Given the description of an element on the screen output the (x, y) to click on. 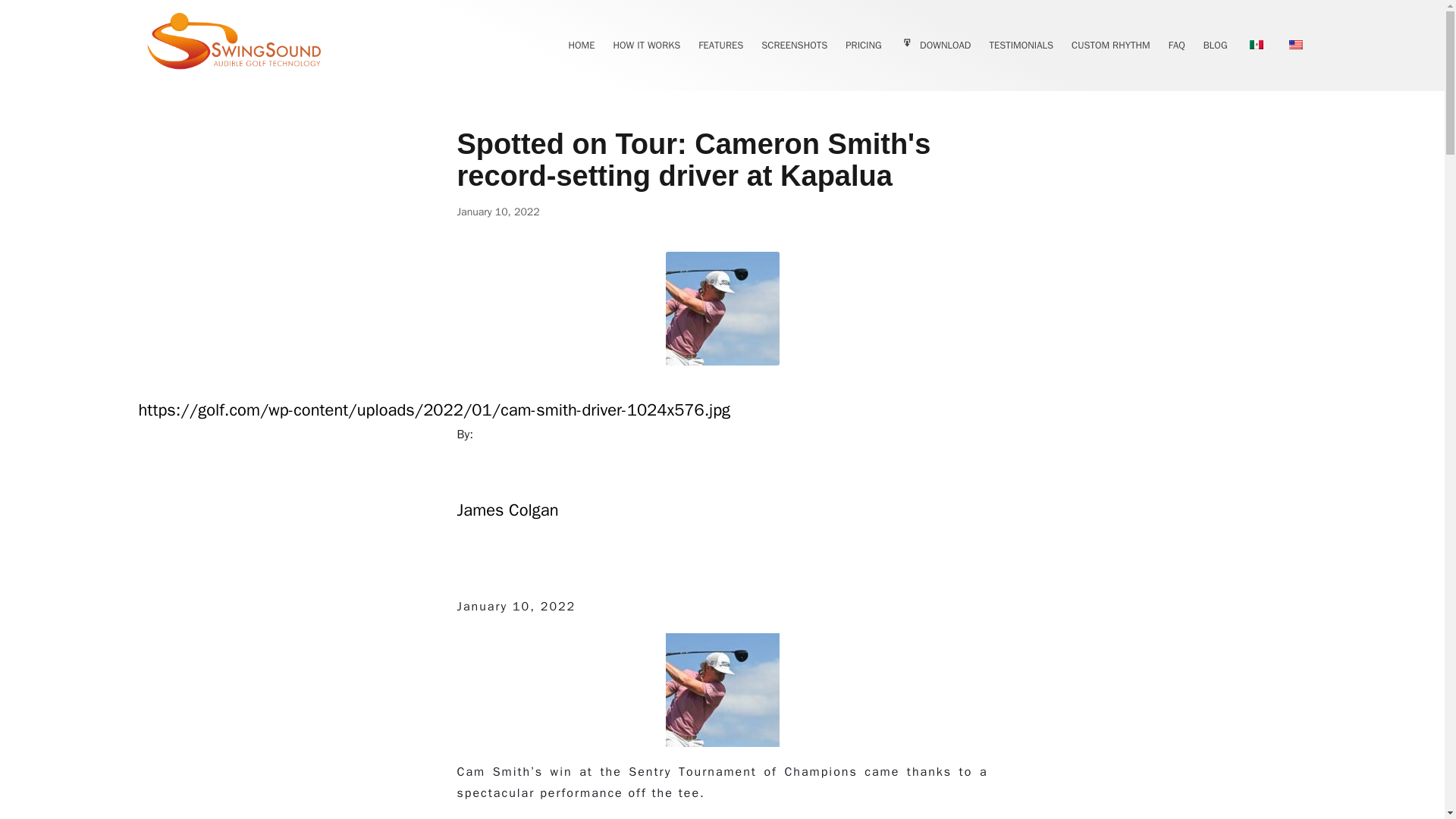
CUSTOM RHYTHM (1110, 45)
HOME (580, 45)
FAQ (1177, 45)
SCREENSHOTS (794, 45)
PRICING (862, 45)
English (1295, 44)
FEATURES (720, 45)
Spanish (1256, 44)
DOWNLOAD (935, 45)
HOW IT WORKS (645, 45)
